Given the description of an element on the screen output the (x, y) to click on. 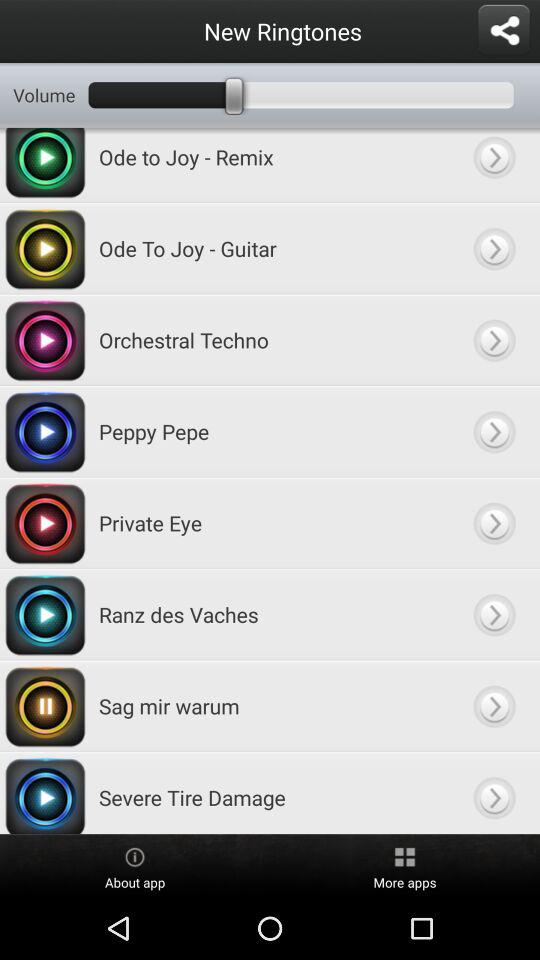
go to next (494, 705)
